Given the description of an element on the screen output the (x, y) to click on. 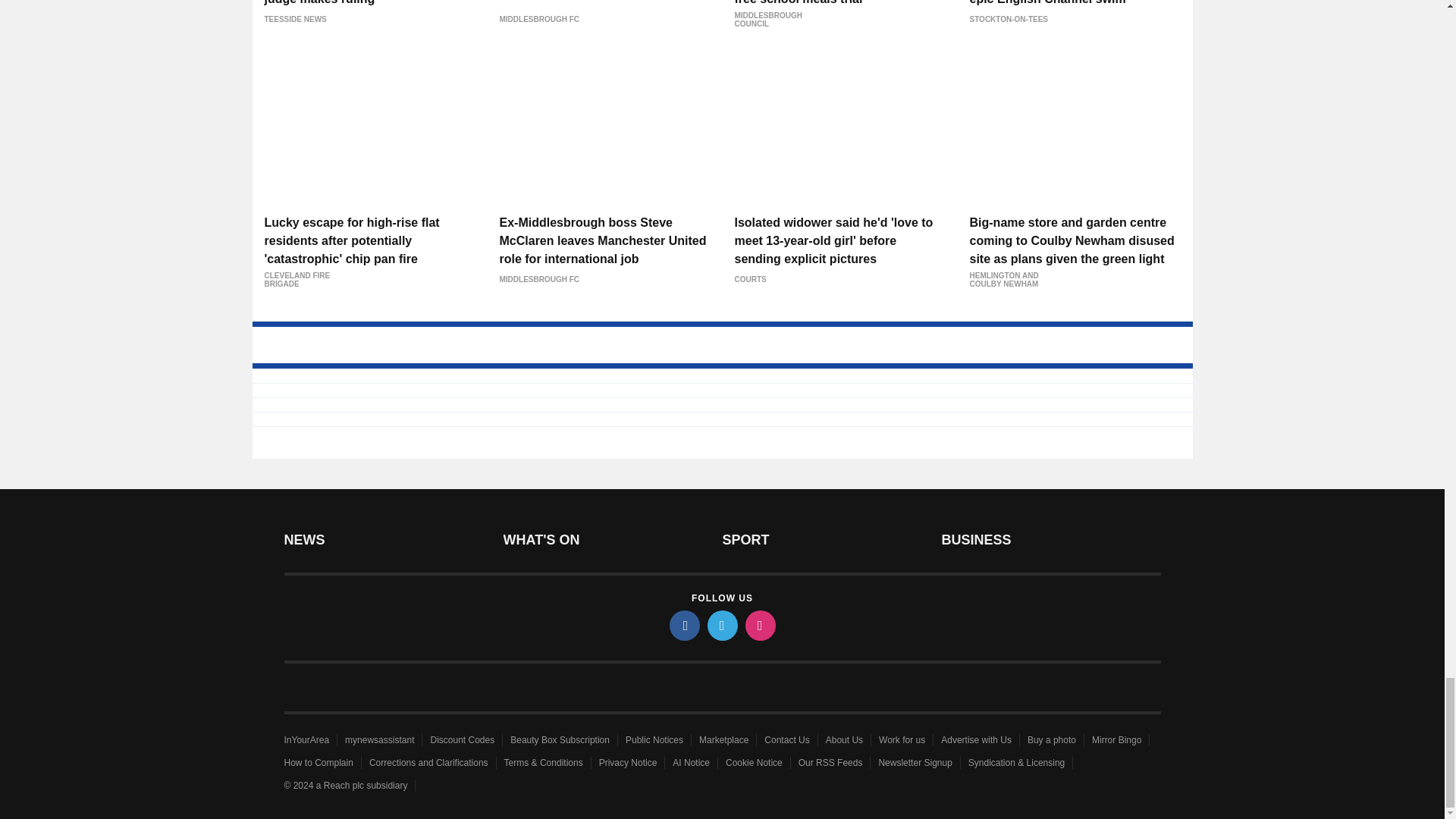
instagram (759, 625)
twitter (721, 625)
facebook (683, 625)
